Given the description of an element on the screen output the (x, y) to click on. 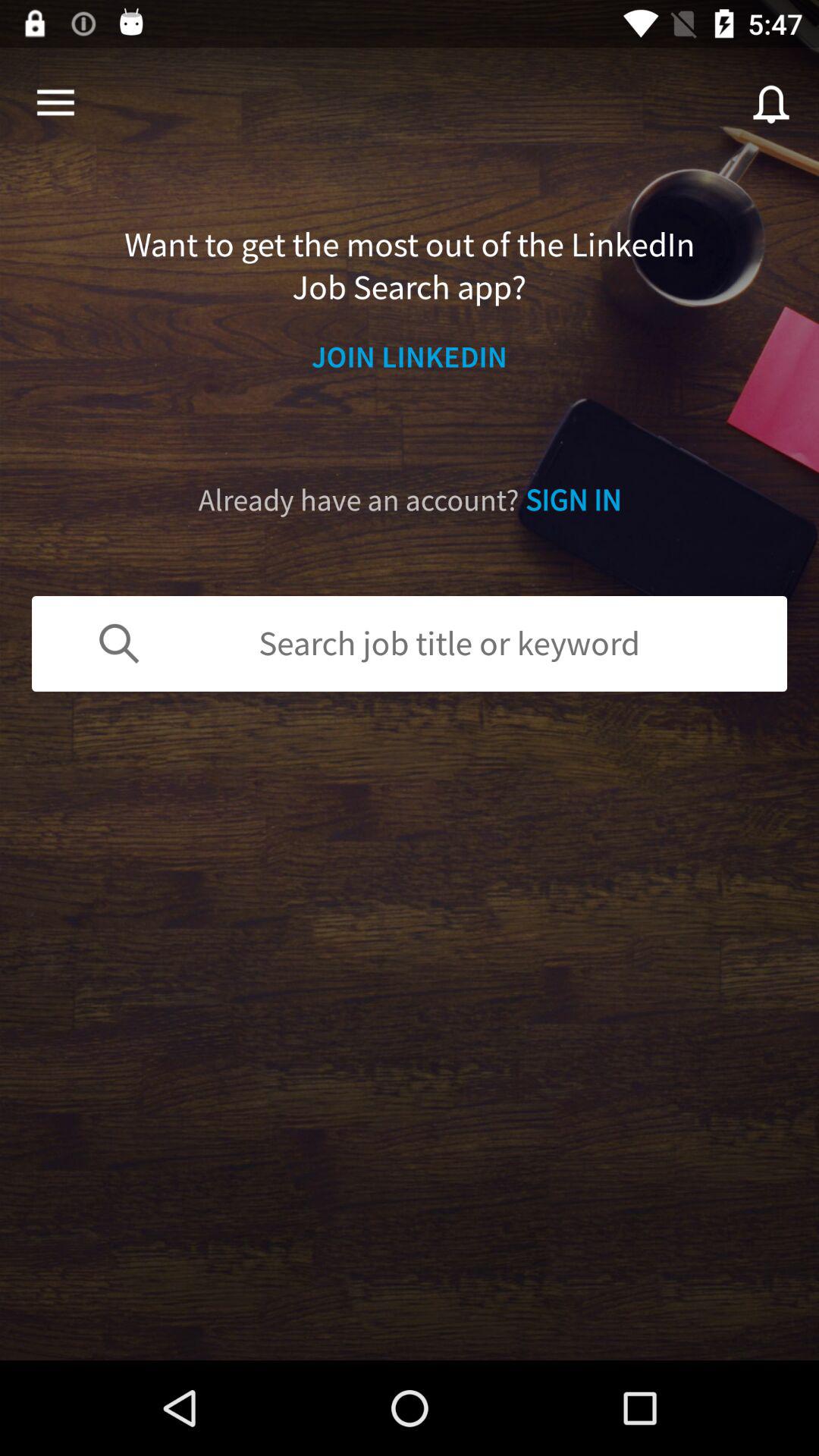
launch the icon below the want to get icon (409, 356)
